Given the description of an element on the screen output the (x, y) to click on. 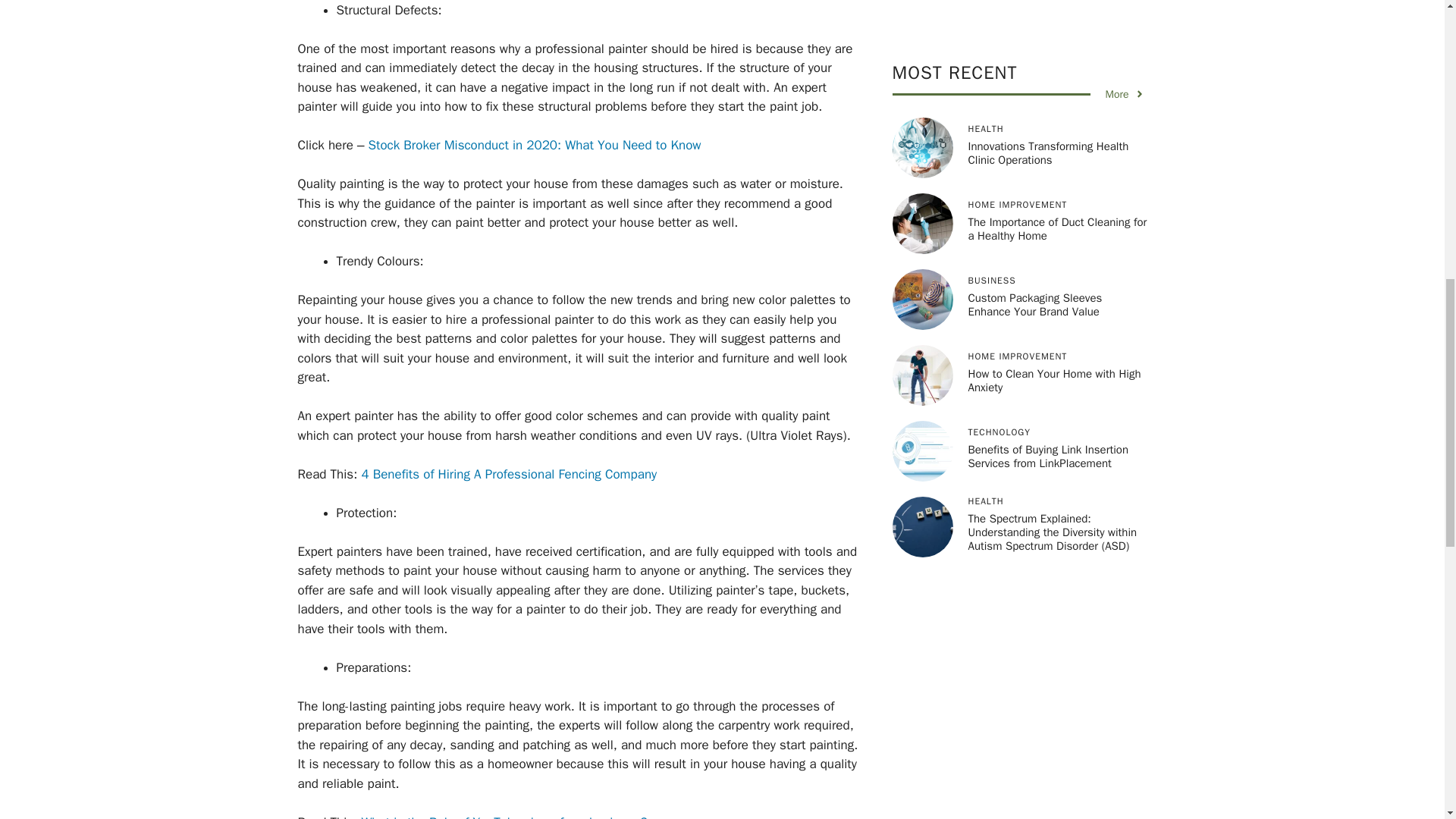
What is the Role of YouTube views for a business? (501, 816)
4 Benefits of Hiring A Professional Fencing Company (506, 474)
Stock Broker Misconduct in 2020: What You Need to Know (534, 145)
